Given the description of an element on the screen output the (x, y) to click on. 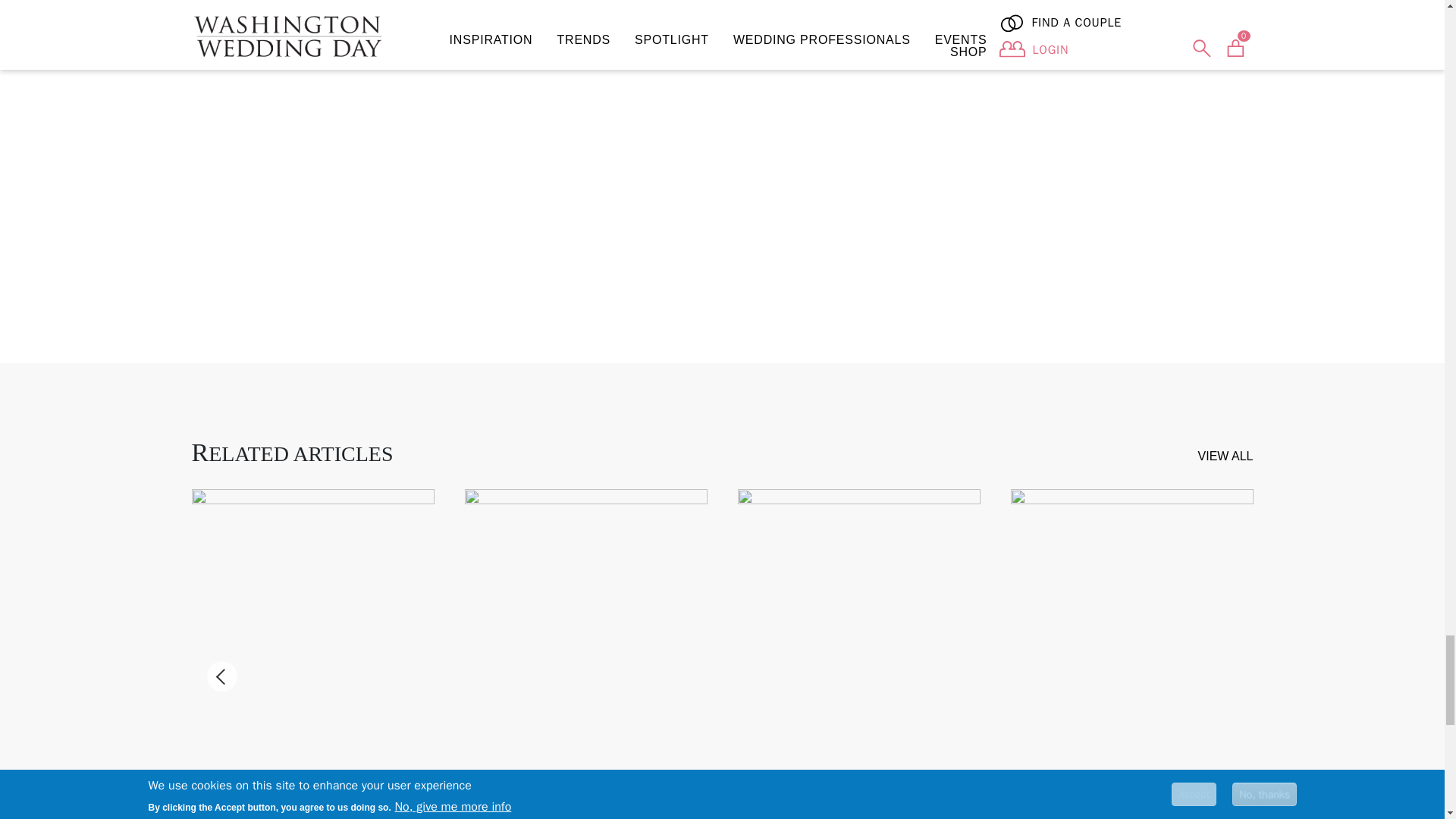
VIEW ALL (1225, 456)
